Given the description of an element on the screen output the (x, y) to click on. 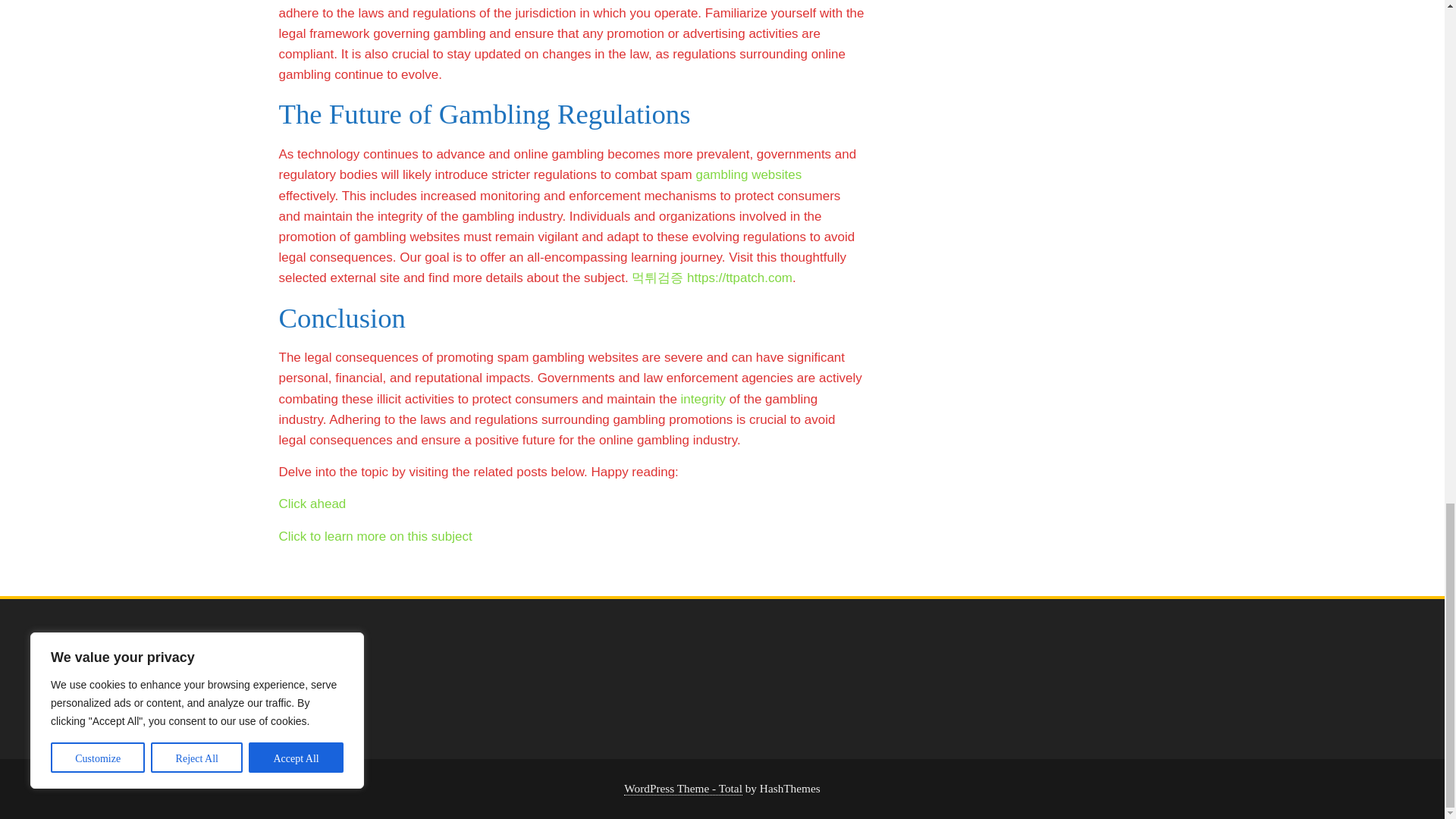
Click to learn more on this subject (375, 536)
Click ahead (312, 503)
gambling websites (748, 174)
integrity (703, 399)
